Given the description of an element on the screen output the (x, y) to click on. 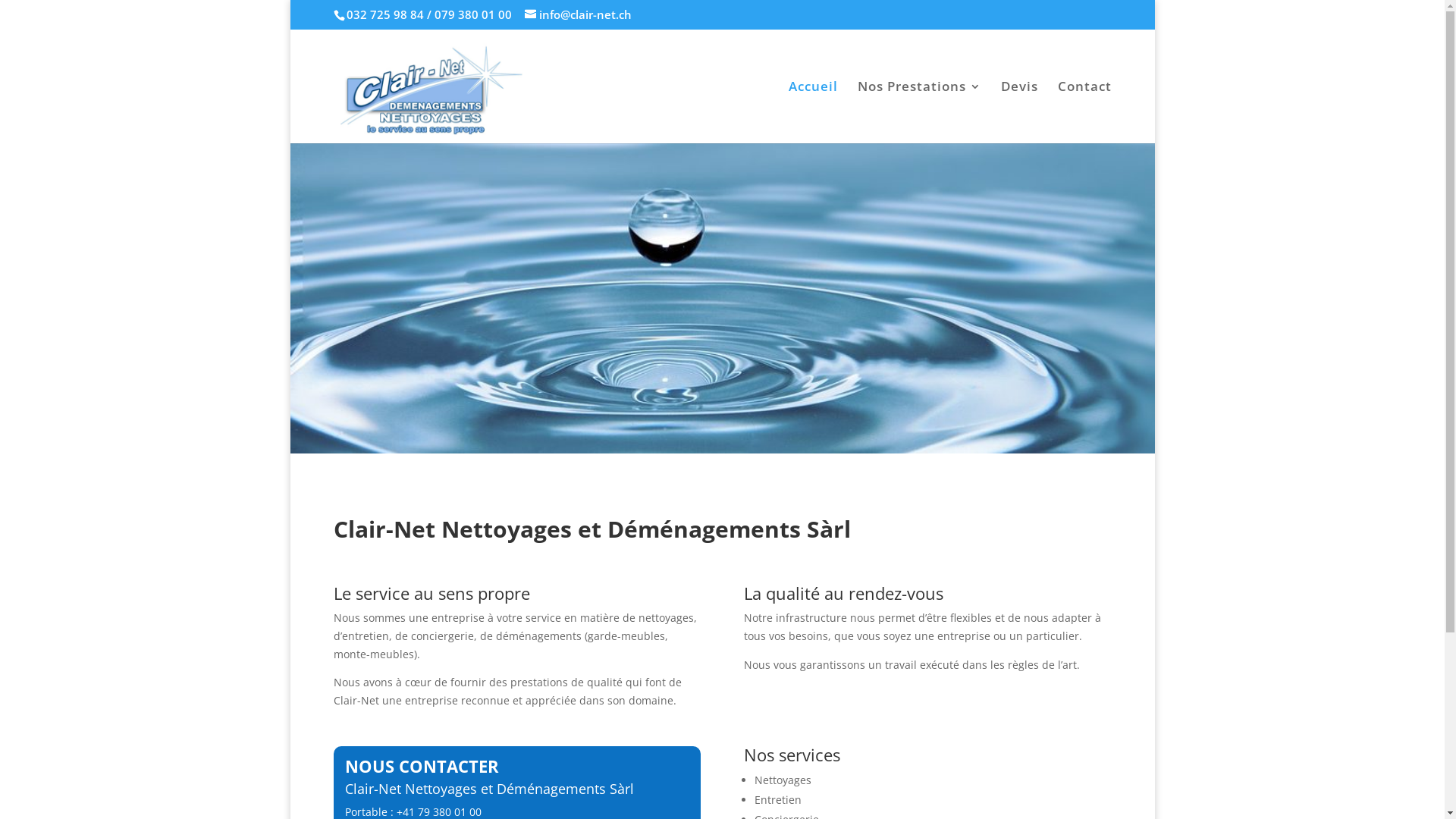
Contact Element type: text (1083, 111)
Nos Prestations Element type: text (918, 111)
Devis Element type: text (1019, 111)
info@clair-net.ch Element type: text (577, 13)
Accueil Element type: text (812, 111)
